Given the description of an element on the screen output the (x, y) to click on. 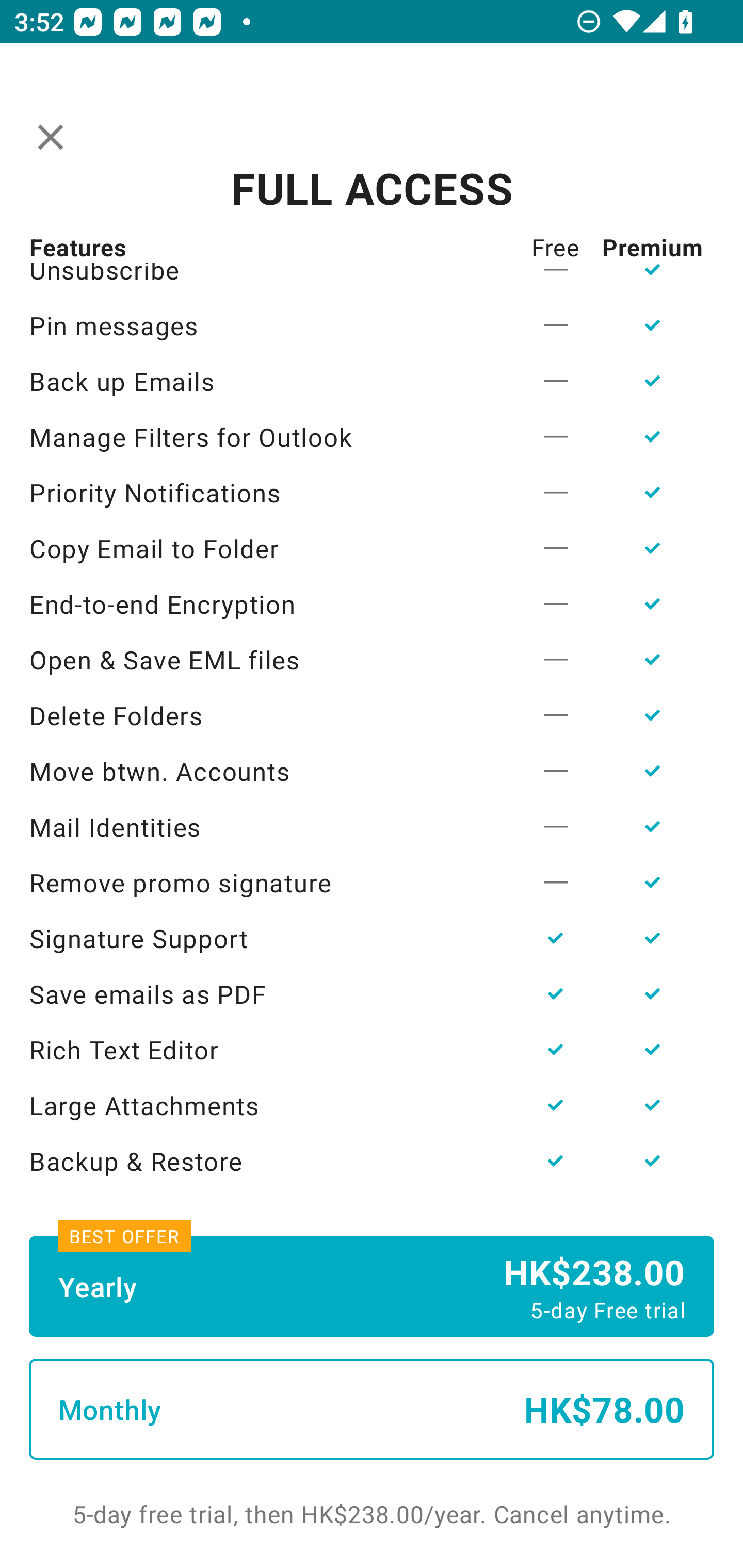
Yearly HK$238.00 5-day Free trial (371, 1286)
Monthly HK$78.00 (371, 1408)
